Given the description of an element on the screen output the (x, y) to click on. 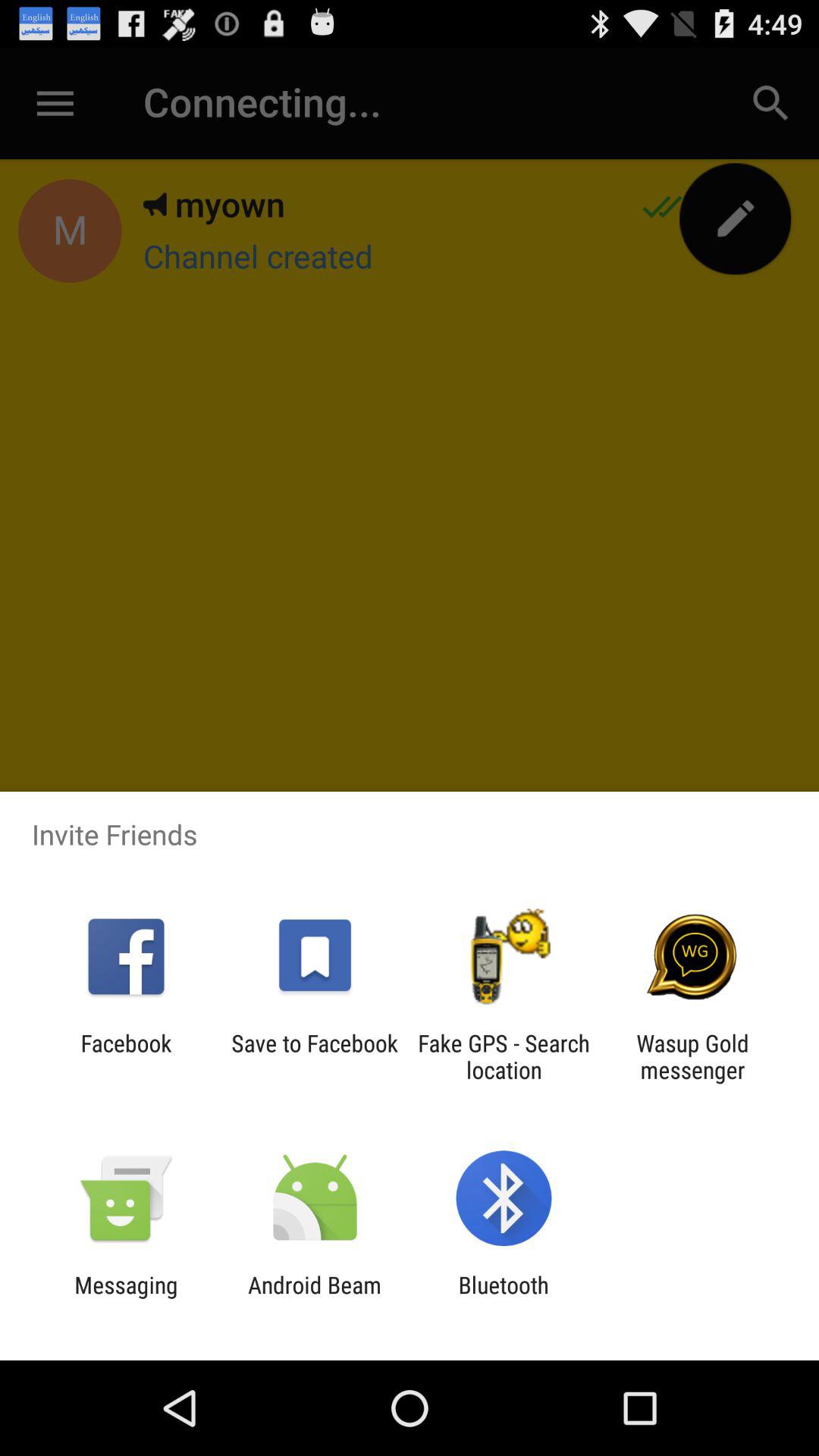
turn off the save to facebook app (314, 1056)
